Given the description of an element on the screen output the (x, y) to click on. 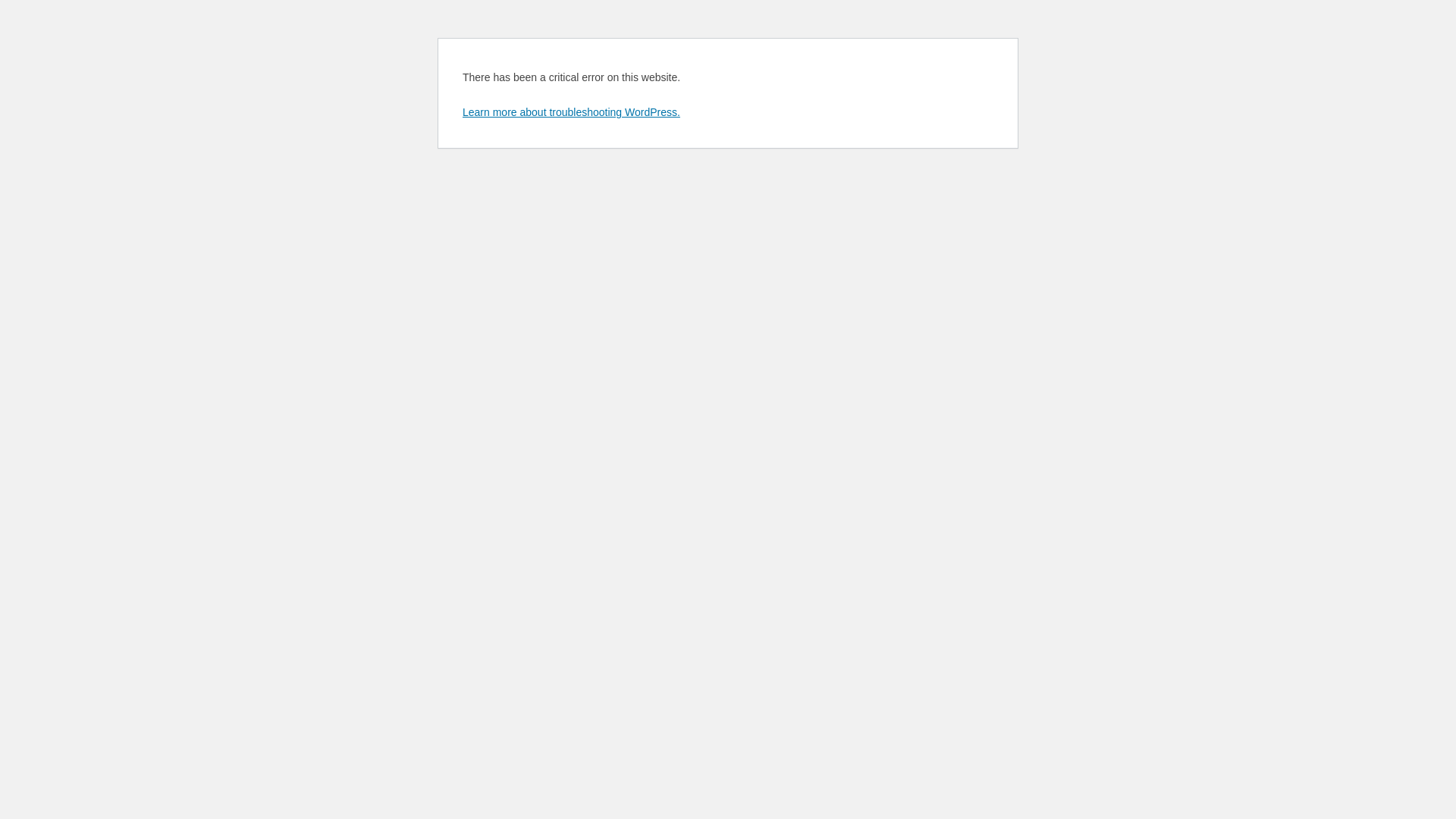
Learn more about troubleshooting WordPress. Element type: text (571, 112)
